Given the description of an element on the screen output the (x, y) to click on. 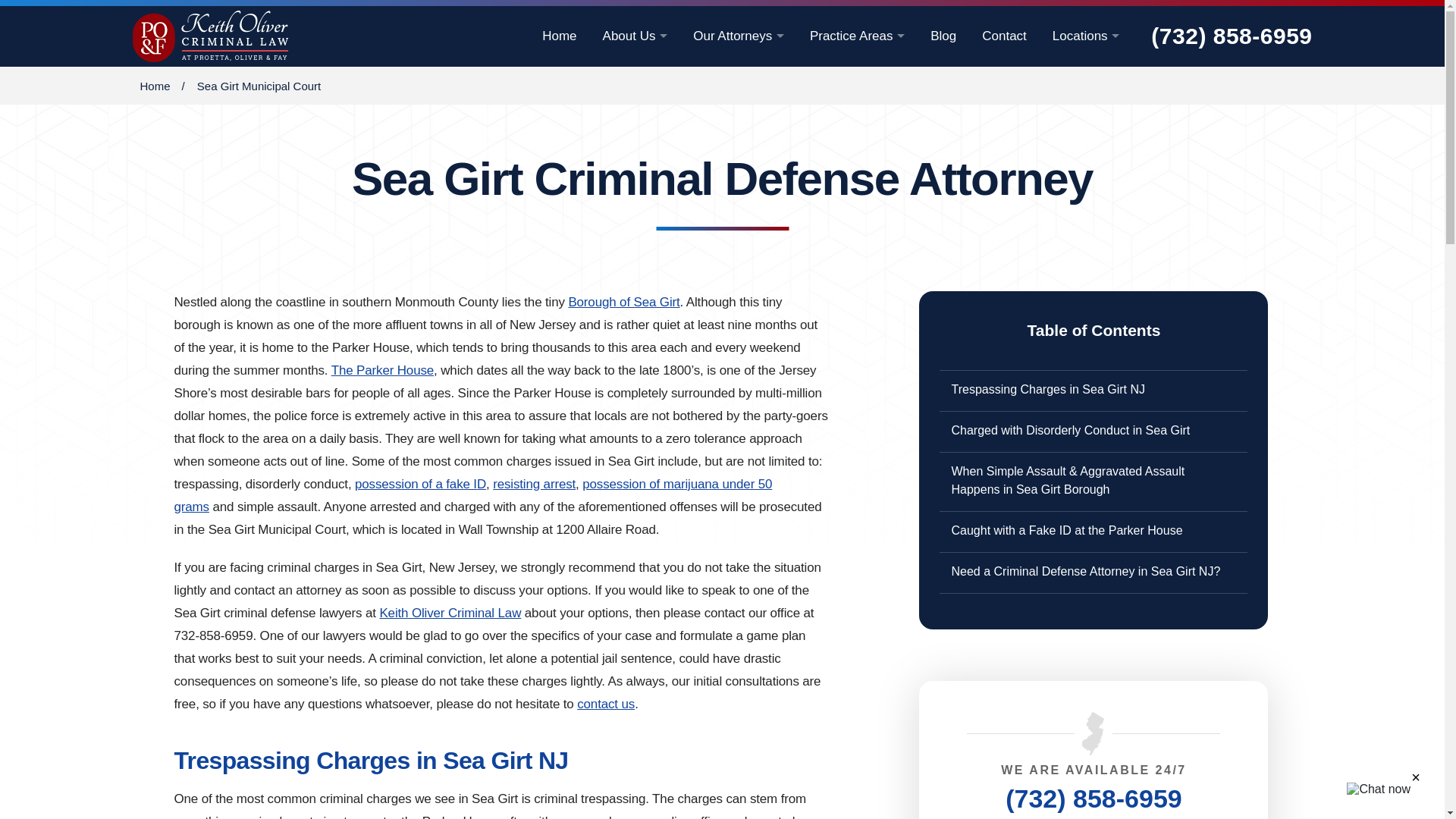
Our Attorneys (738, 36)
Home (558, 36)
About Us (635, 36)
About Us (635, 36)
Practice Areas (856, 36)
Practice Areas (856, 36)
Home (558, 36)
Our Attorneys (738, 36)
